Given the description of an element on the screen output the (x, y) to click on. 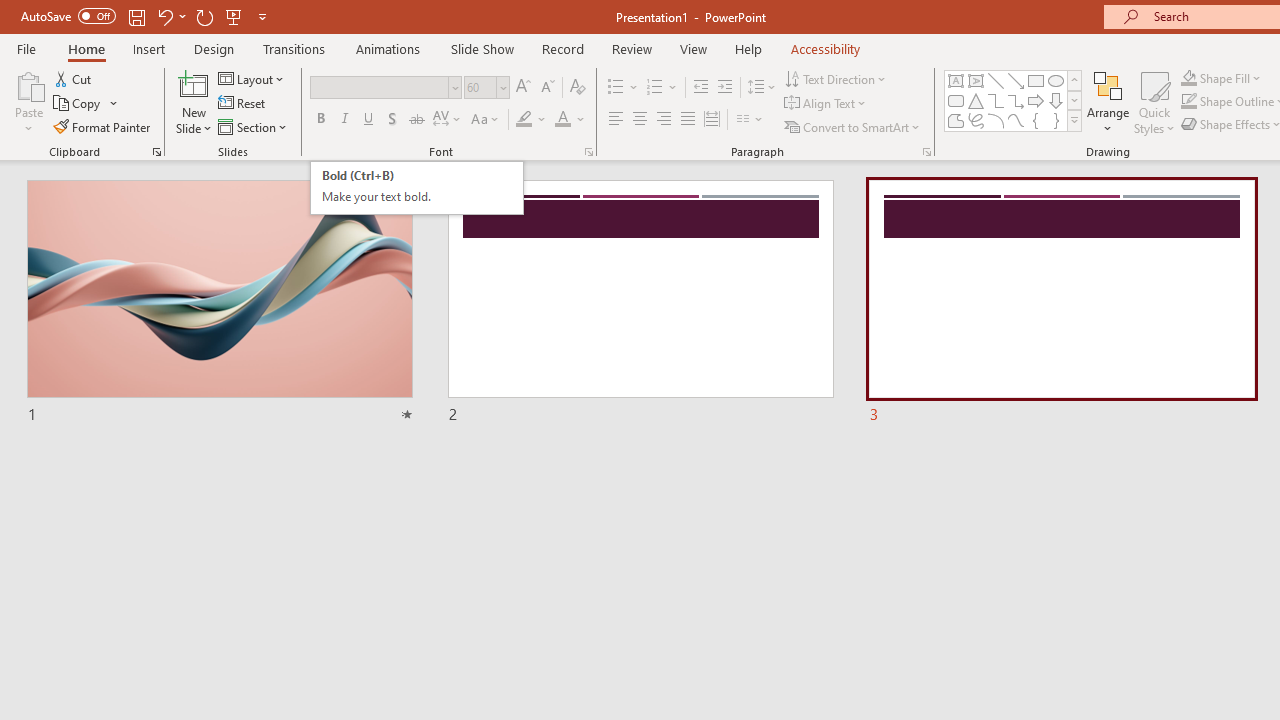
Shape Fill (1221, 78)
Convert to SmartArt (853, 126)
Isosceles Triangle (975, 100)
System (10, 11)
Arrange (1108, 102)
Text Box (955, 80)
Copy (78, 103)
Shapes (1074, 120)
File Tab (26, 48)
System (10, 11)
Design (214, 48)
Animations (388, 48)
Office Clipboard... (156, 151)
Home (86, 48)
Paragraph... (926, 151)
